Given the description of an element on the screen output the (x, y) to click on. 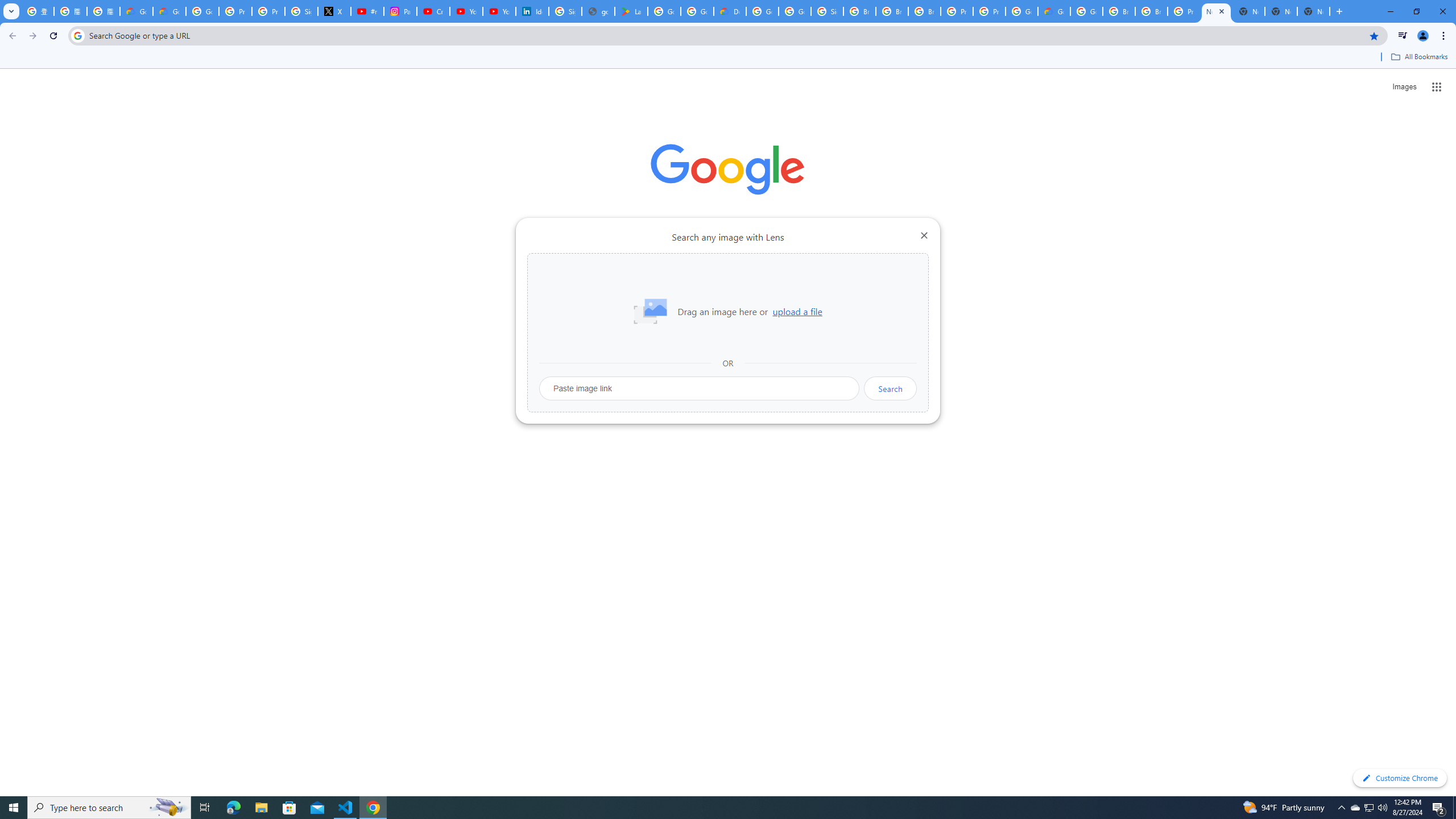
Sign in - Google Accounts (827, 11)
Google Cloud Platform (762, 11)
New Tab (1216, 11)
Google Cloud Estimate Summary (1053, 11)
Privacy Help Center - Policies Help (268, 11)
